Given the description of an element on the screen output the (x, y) to click on. 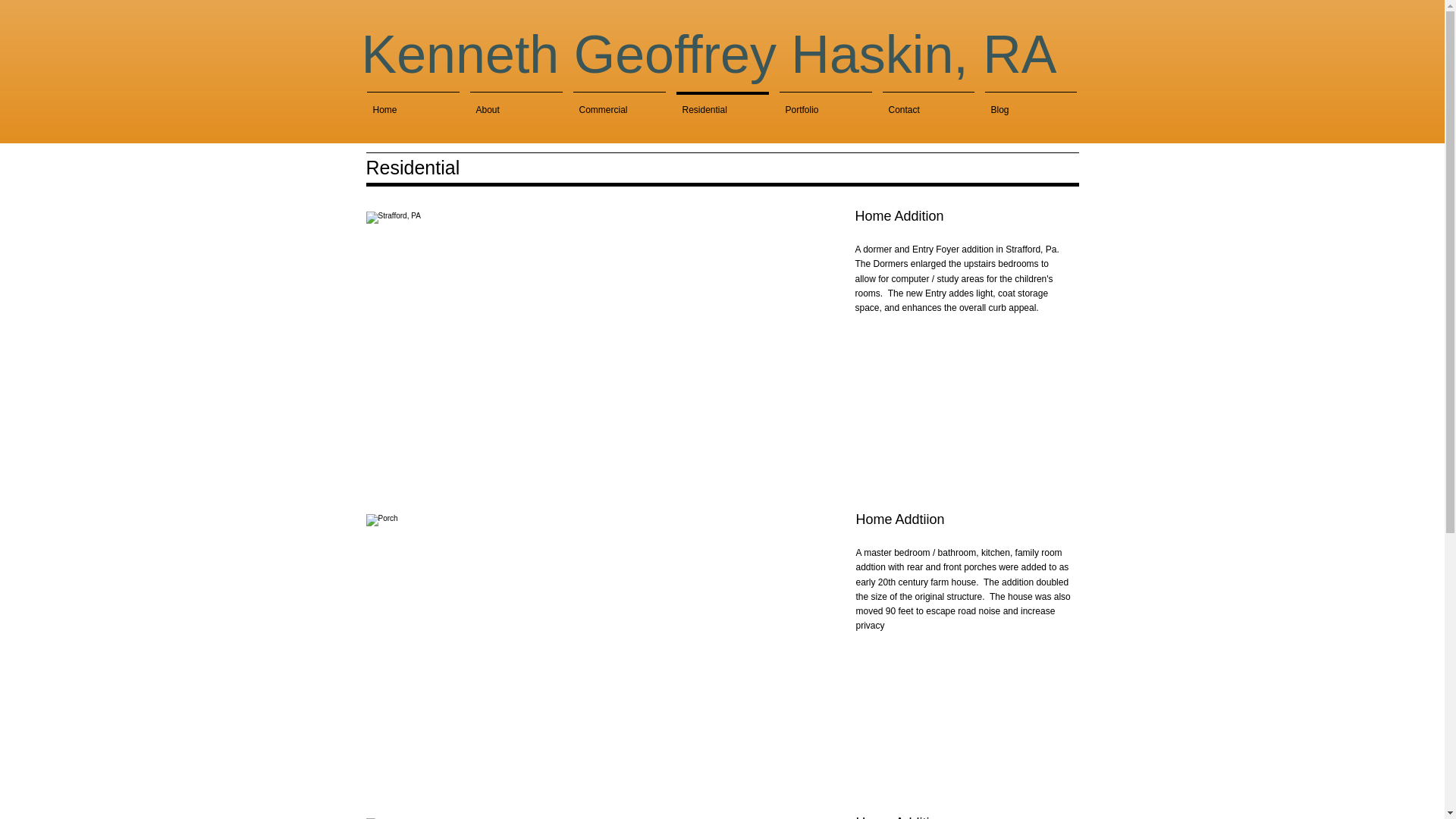
Home (412, 102)
Residential (721, 102)
Contact (927, 102)
Commercial (618, 102)
Portfolio (824, 102)
About (515, 102)
Blog (1030, 102)
